Given the description of an element on the screen output the (x, y) to click on. 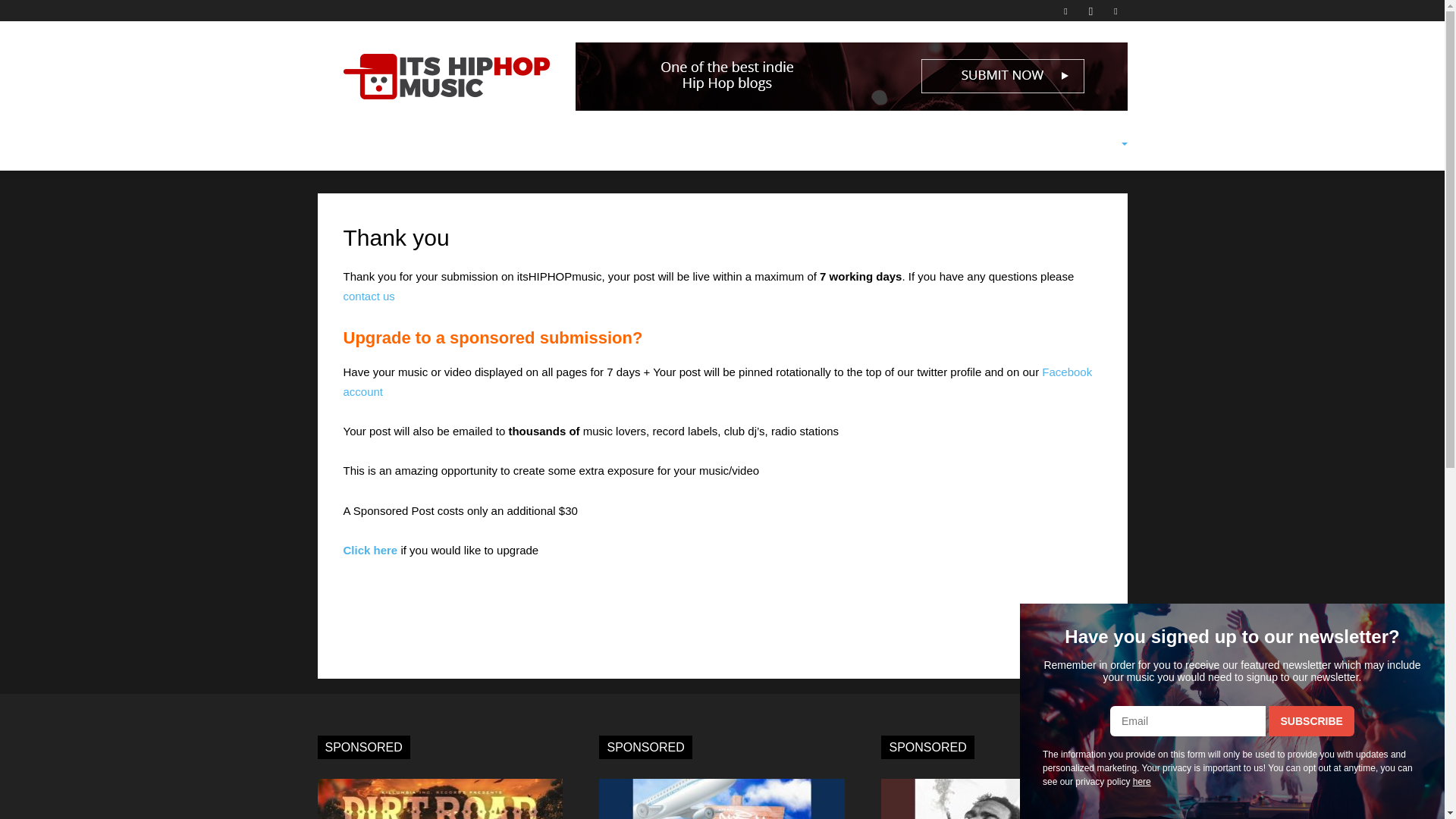
ARTIST (517, 143)
its Hip Hop Music (445, 76)
VIDEOS (456, 143)
MUSIC (397, 143)
Twitter (1114, 10)
SUBMIT (584, 143)
Facebook (1065, 10)
HOME (343, 143)
Instagram (1090, 10)
contact us (368, 295)
Search (1083, 213)
Facebook account (717, 381)
